Given the description of an element on the screen output the (x, y) to click on. 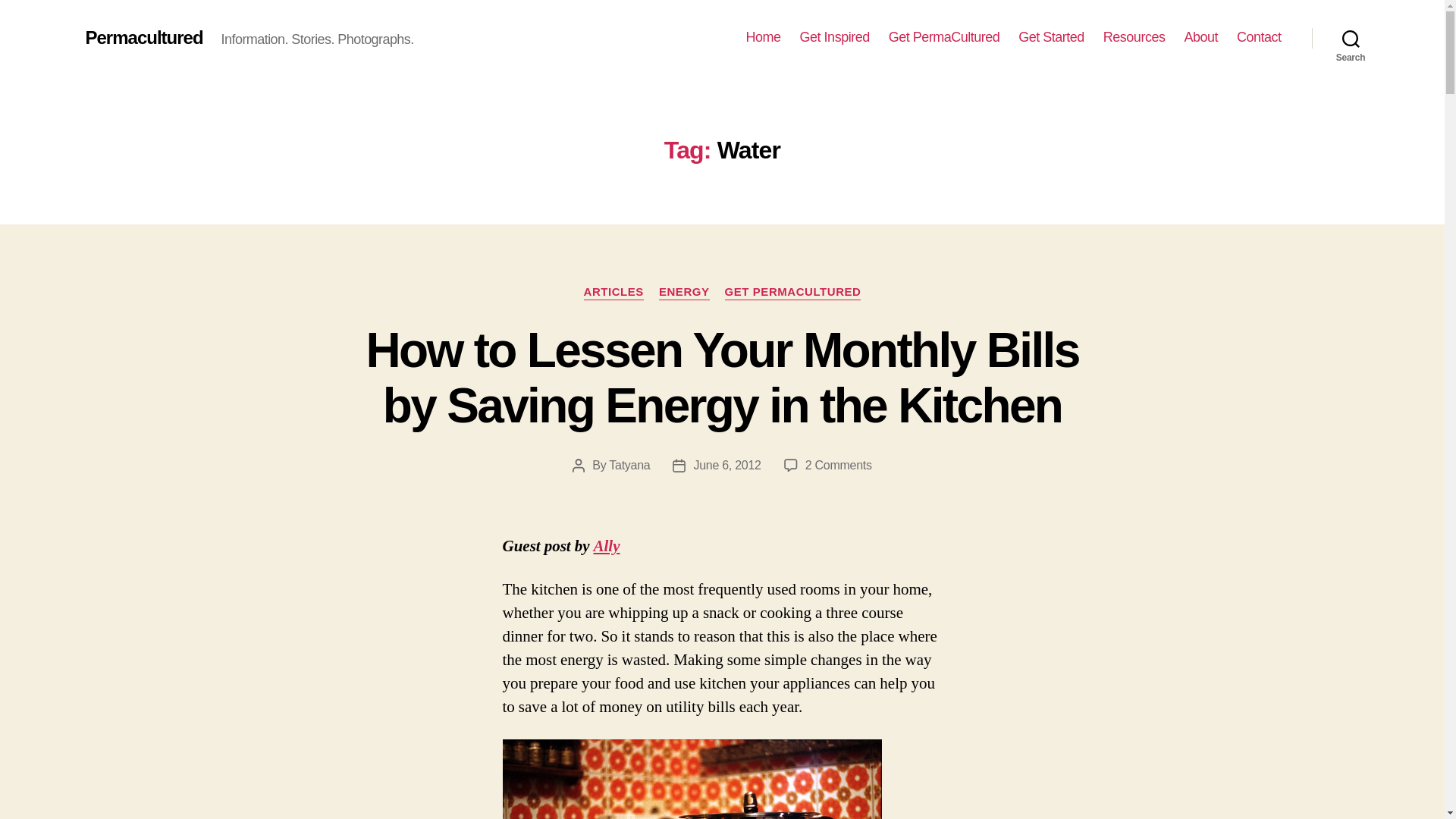
GET PERMACULTURED (793, 292)
Home (762, 37)
ARTICLES (613, 292)
Permacultured (143, 37)
Get Started (1050, 37)
Free Budget Spreadsheet (606, 546)
Resources (1134, 37)
Tatyana (628, 464)
ENERGY (684, 292)
About (1200, 37)
Contact (1258, 37)
The kitchen by eightfivezero, on Flickr (722, 779)
Get Inspired (834, 37)
